Given the description of an element on the screen output the (x, y) to click on. 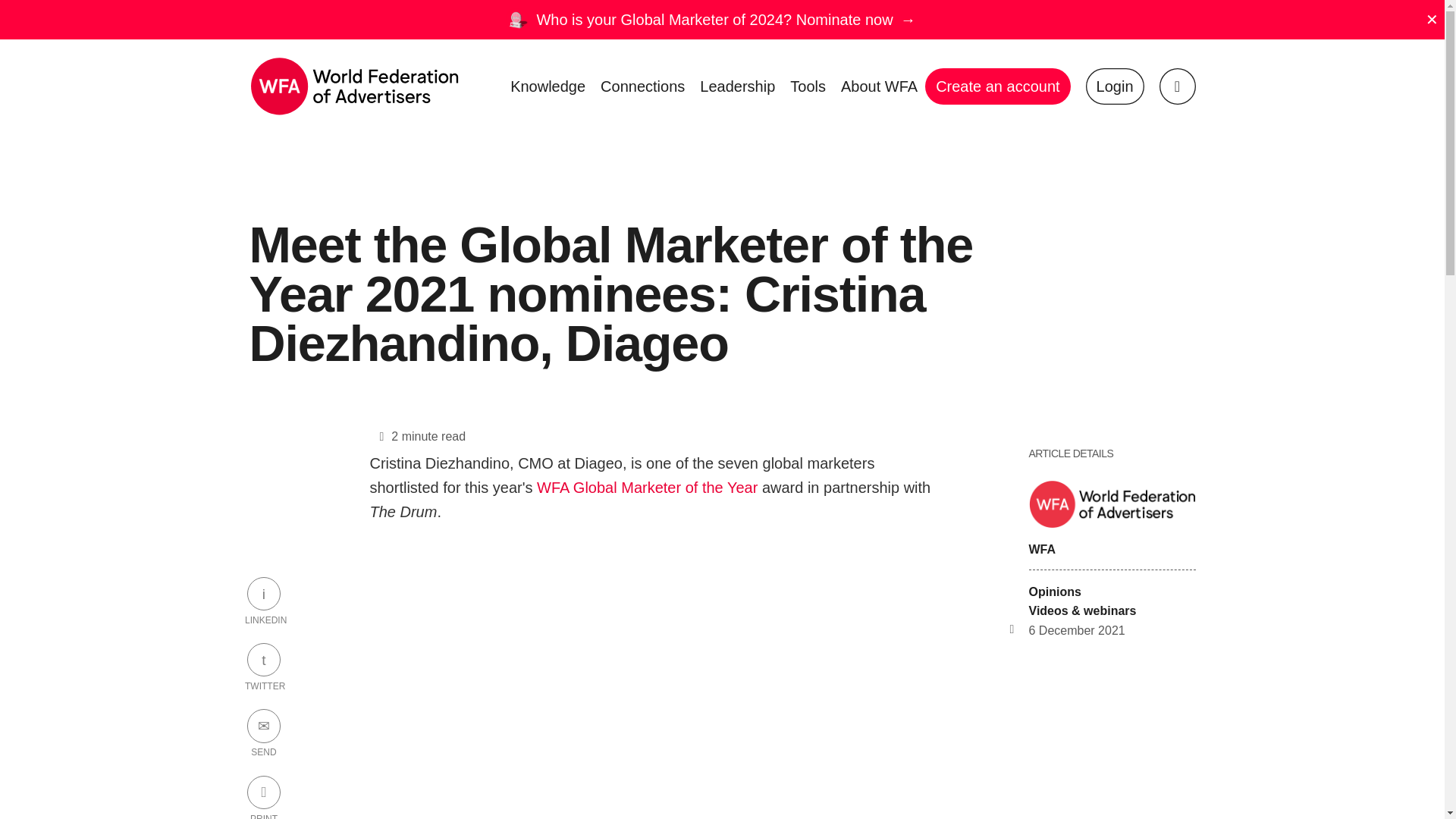
Connections (642, 85)
Leadership (738, 85)
Toggle Search popup (1176, 85)
Tools (807, 85)
About WFA (878, 85)
Log in (1115, 85)
Knowledge (547, 85)
